Given the description of an element on the screen output the (x, y) to click on. 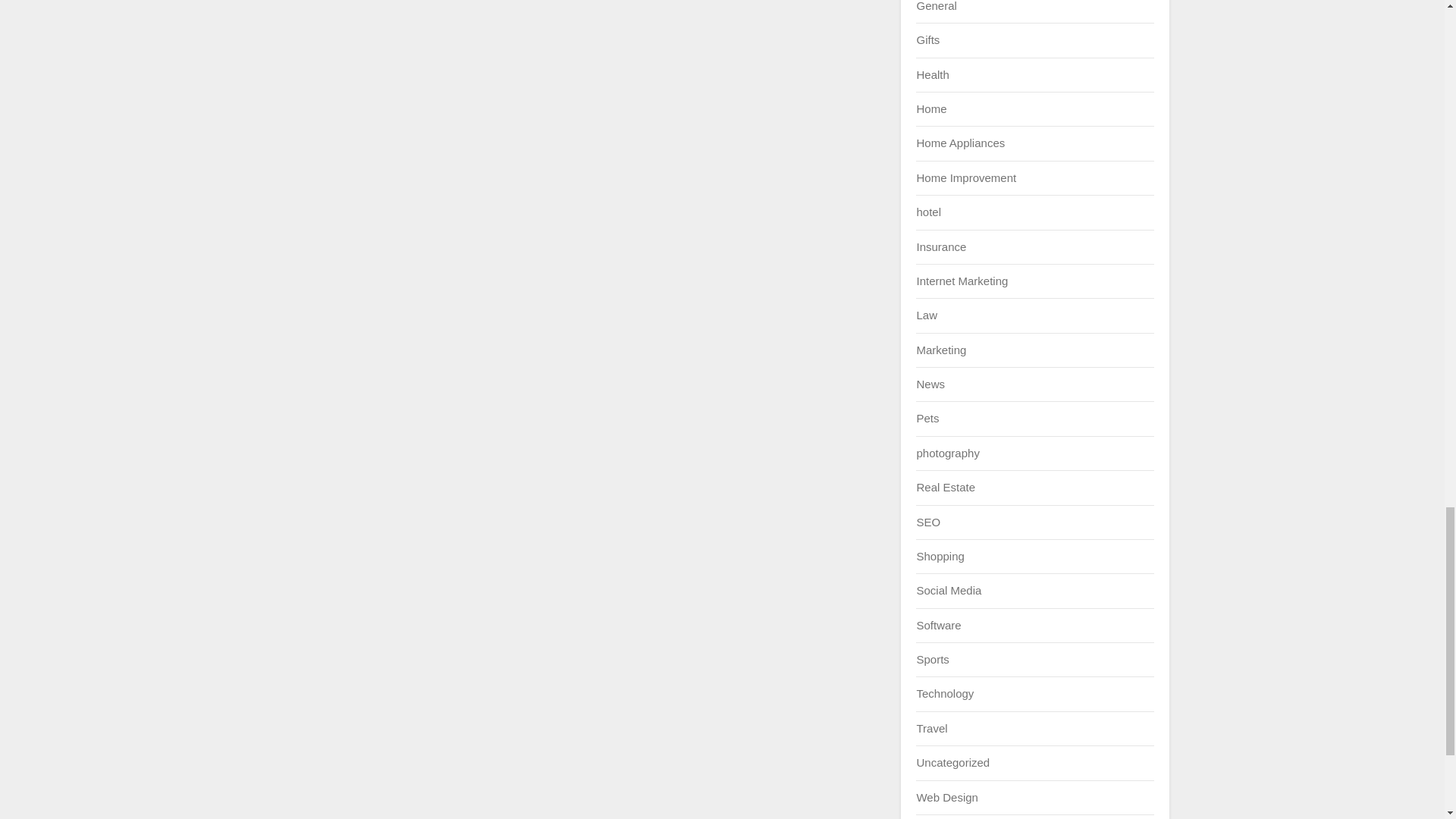
General (935, 6)
Gifts (927, 39)
